Given the description of an element on the screen output the (x, y) to click on. 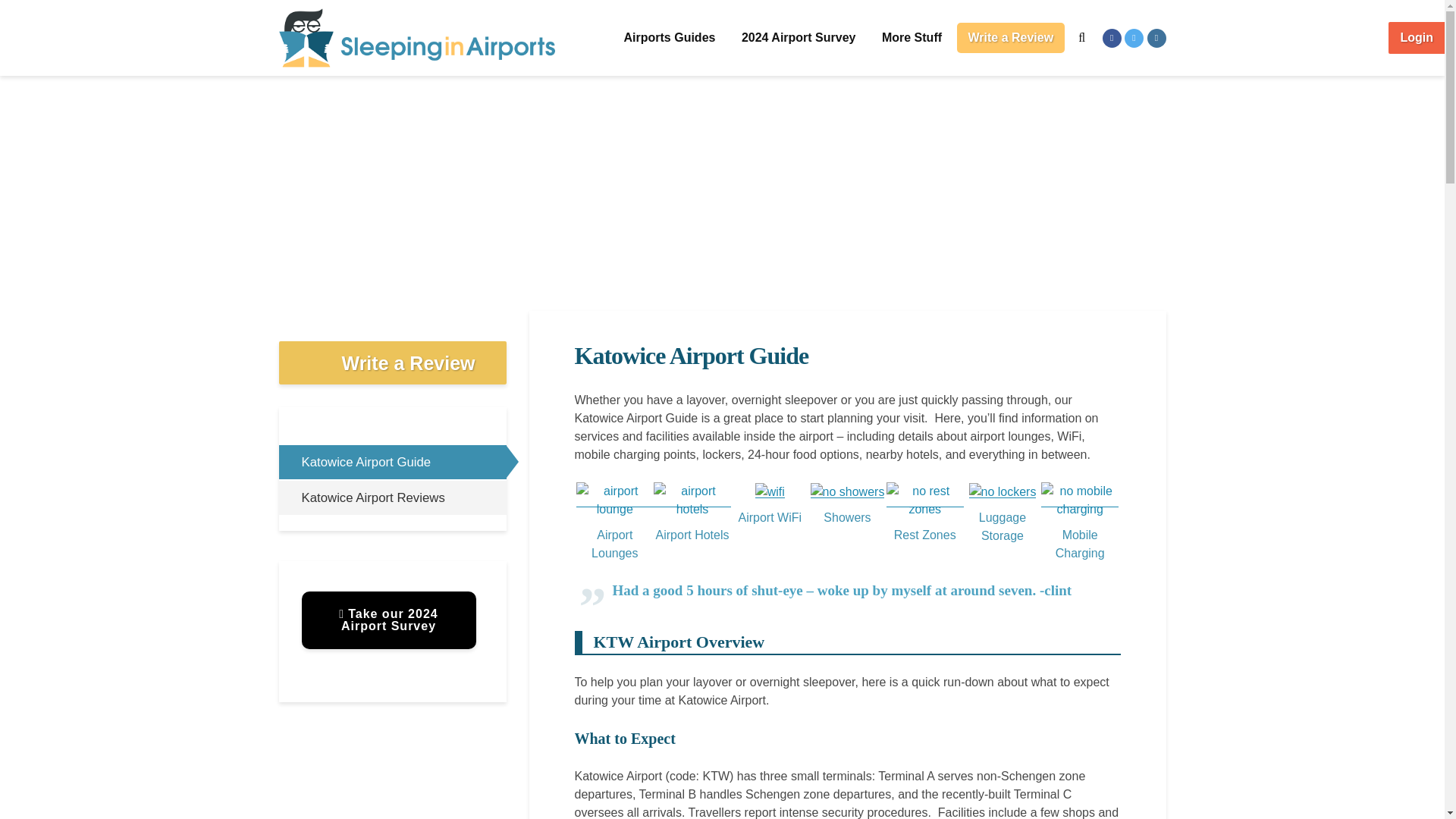
Airports Guides (669, 37)
More Stuff (911, 37)
2024 Airport Survey (798, 37)
Airport WiFi (769, 505)
Airport Lounges (614, 528)
Write a Review (1010, 37)
Airport Hotels (691, 519)
